Given the description of an element on the screen output the (x, y) to click on. 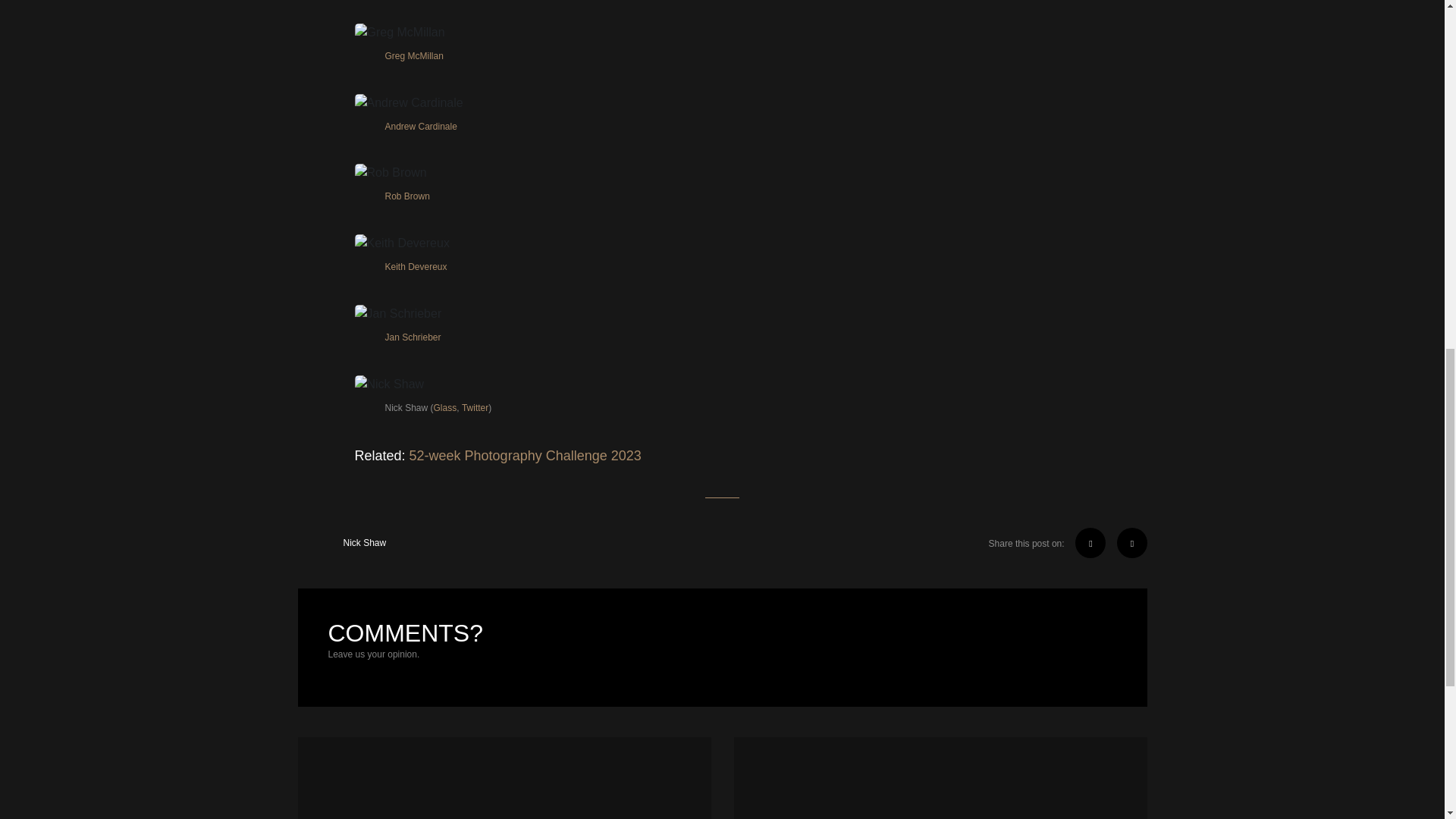
Greg McMillan (414, 56)
Nick Shaw (341, 542)
Glass (445, 407)
Keith Devereux (415, 266)
52-week Photography Challenge 2023 (525, 455)
Andrew Cardinale (421, 126)
Twitter (474, 407)
Rob Brown (407, 196)
Jan Schrieber (413, 336)
